Given the description of an element on the screen output the (x, y) to click on. 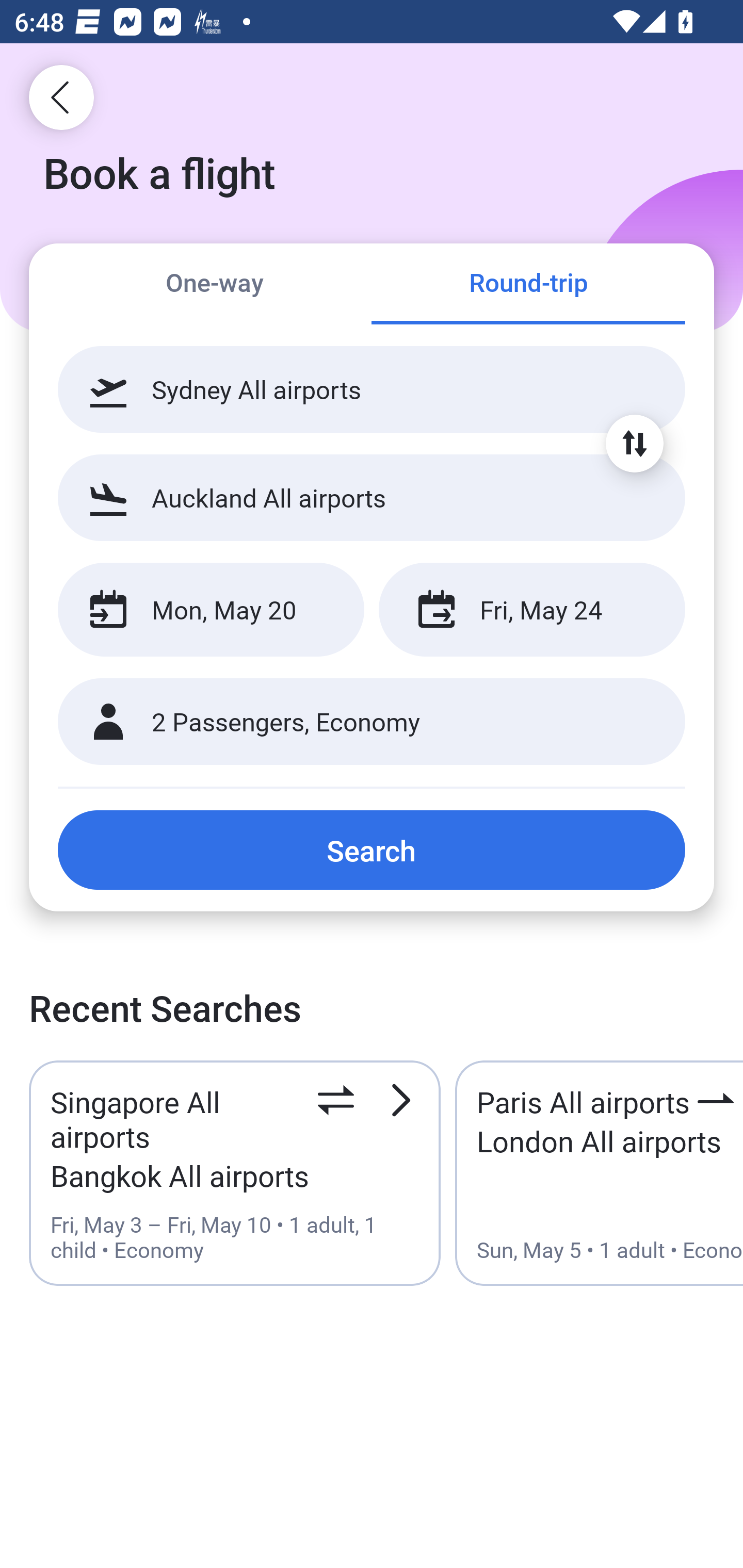
One-way (214, 284)
Sydney All airports (371, 389)
Auckland All airports (371, 497)
Mon, May 20 (210, 609)
Fri, May 24 (531, 609)
2 Passengers, Economy (371, 721)
Search (371, 849)
